Given the description of an element on the screen output the (x, y) to click on. 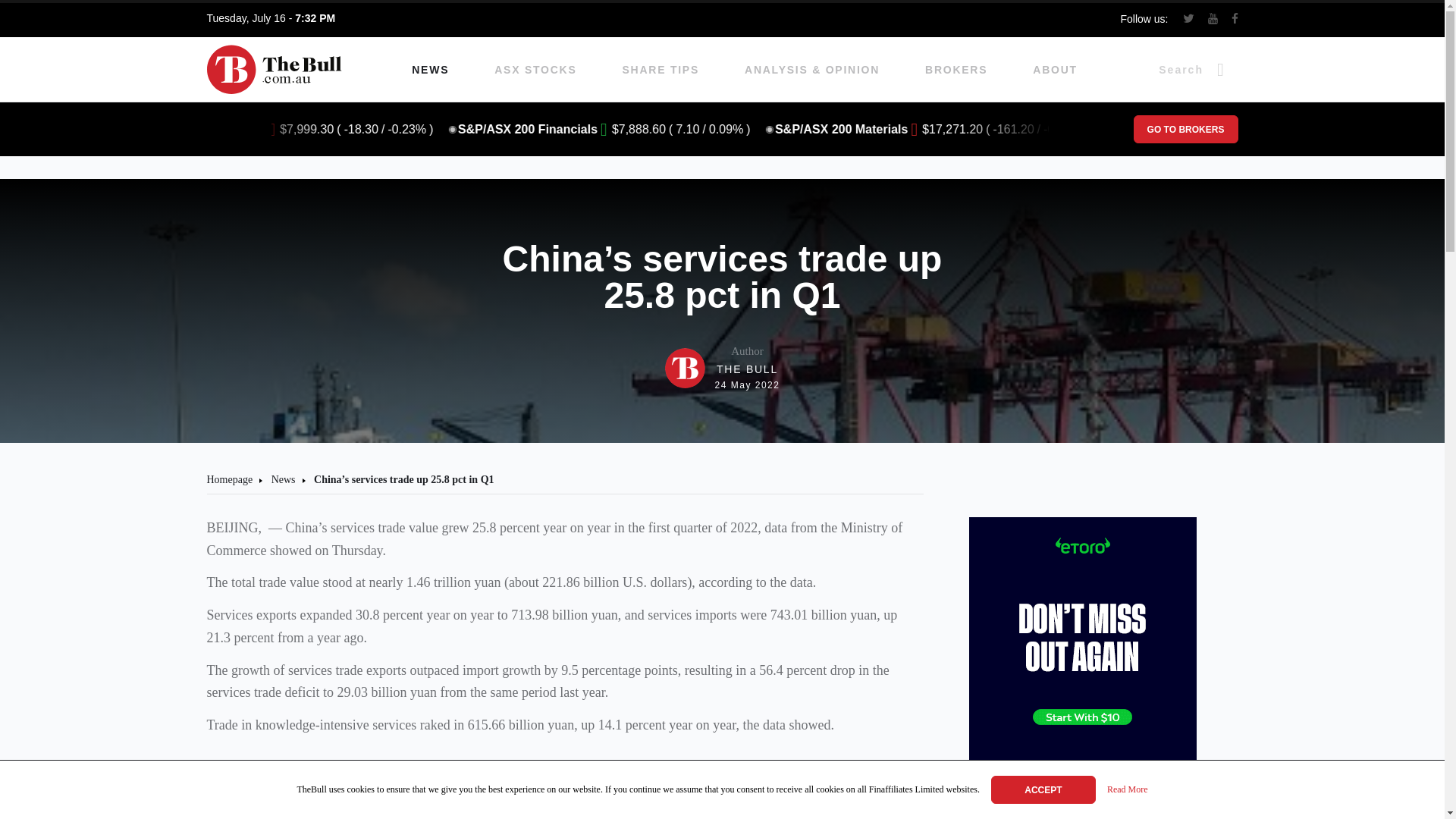
Read More (1127, 789)
ACCEPT (1043, 789)
GO TO BROKERS (1184, 129)
Homepage (228, 479)
News (282, 479)
SHARE TIPS (661, 69)
BROKERS (722, 367)
ABOUT (955, 69)
NEWS (1054, 69)
ASX STOCKS (430, 69)
